Given the description of an element on the screen output the (x, y) to click on. 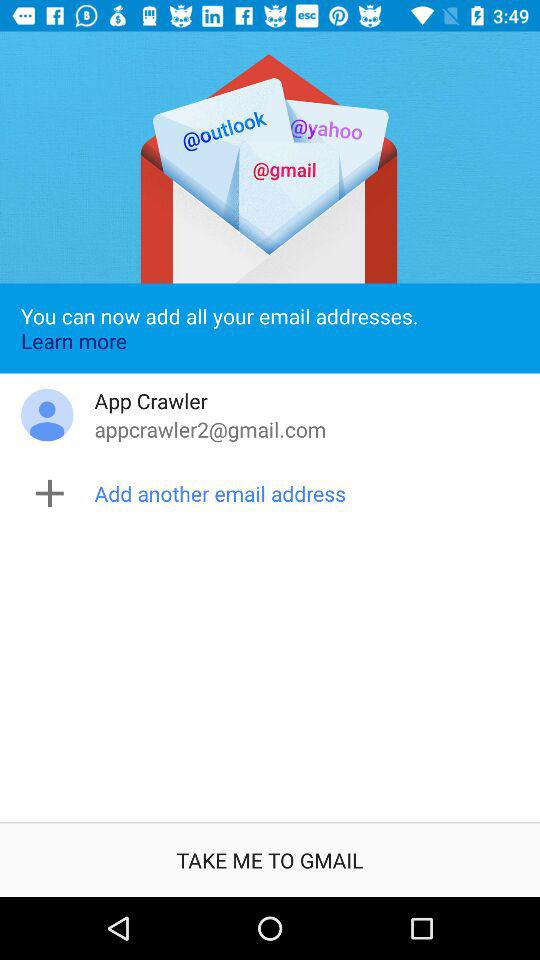
open the icon above app crawler item (269, 328)
